Given the description of an element on the screen output the (x, y) to click on. 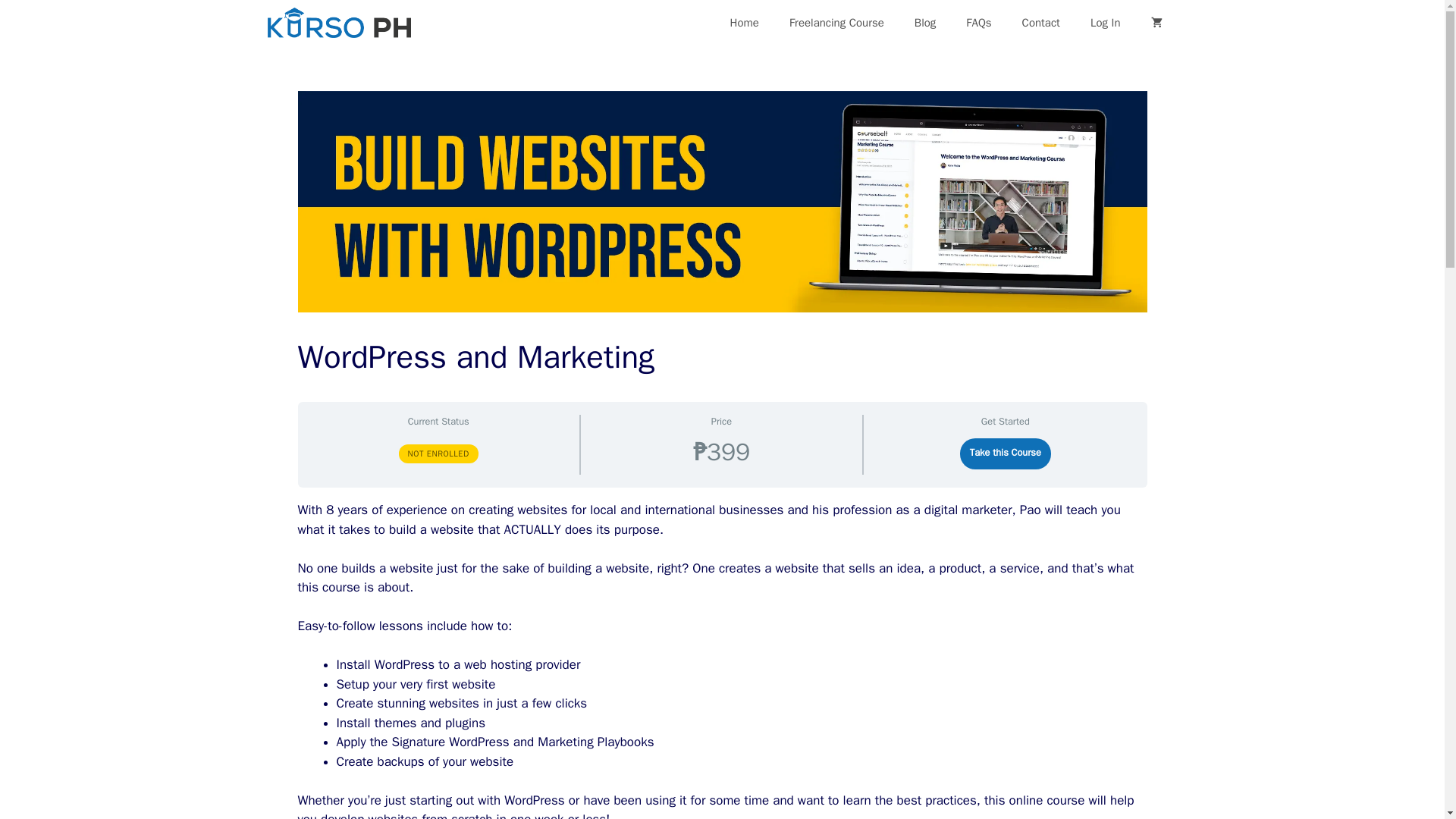
Contact (1041, 22)
Freelancing Course (836, 22)
Log In (1105, 22)
View your shopping cart (1156, 22)
Kurso.ph (338, 22)
Take this Course (1004, 453)
Home (744, 22)
FAQs (978, 22)
Blog (924, 22)
